Given the description of an element on the screen output the (x, y) to click on. 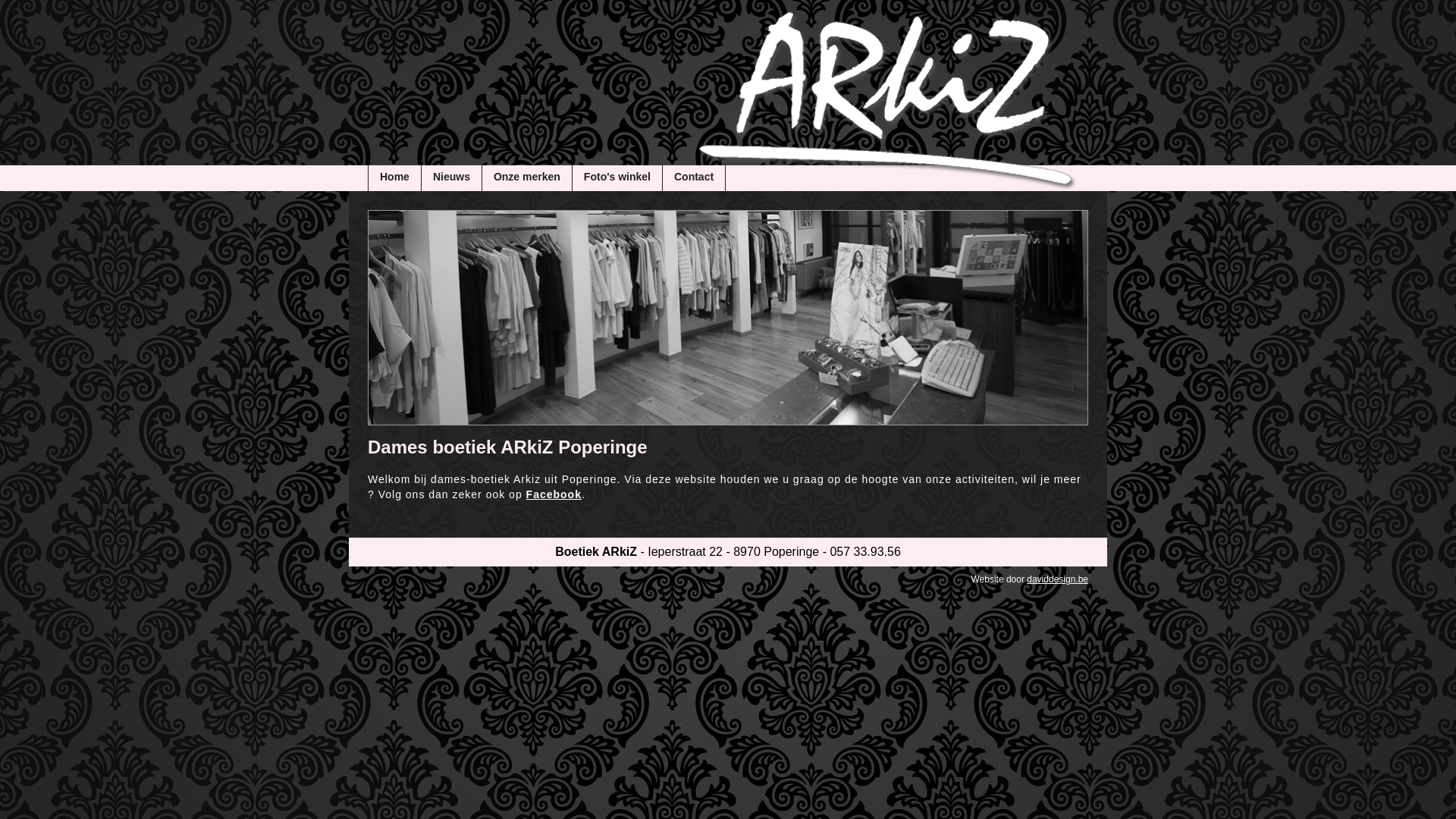
Onze merken Element type: text (527, 177)
Facebook Element type: text (553, 494)
Nieuws Element type: text (451, 177)
Home Element type: text (394, 177)
Foto's winkel Element type: text (617, 177)
daviddesign.be Element type: text (1057, 579)
Contact Element type: text (693, 177)
